Given the description of an element on the screen output the (x, y) to click on. 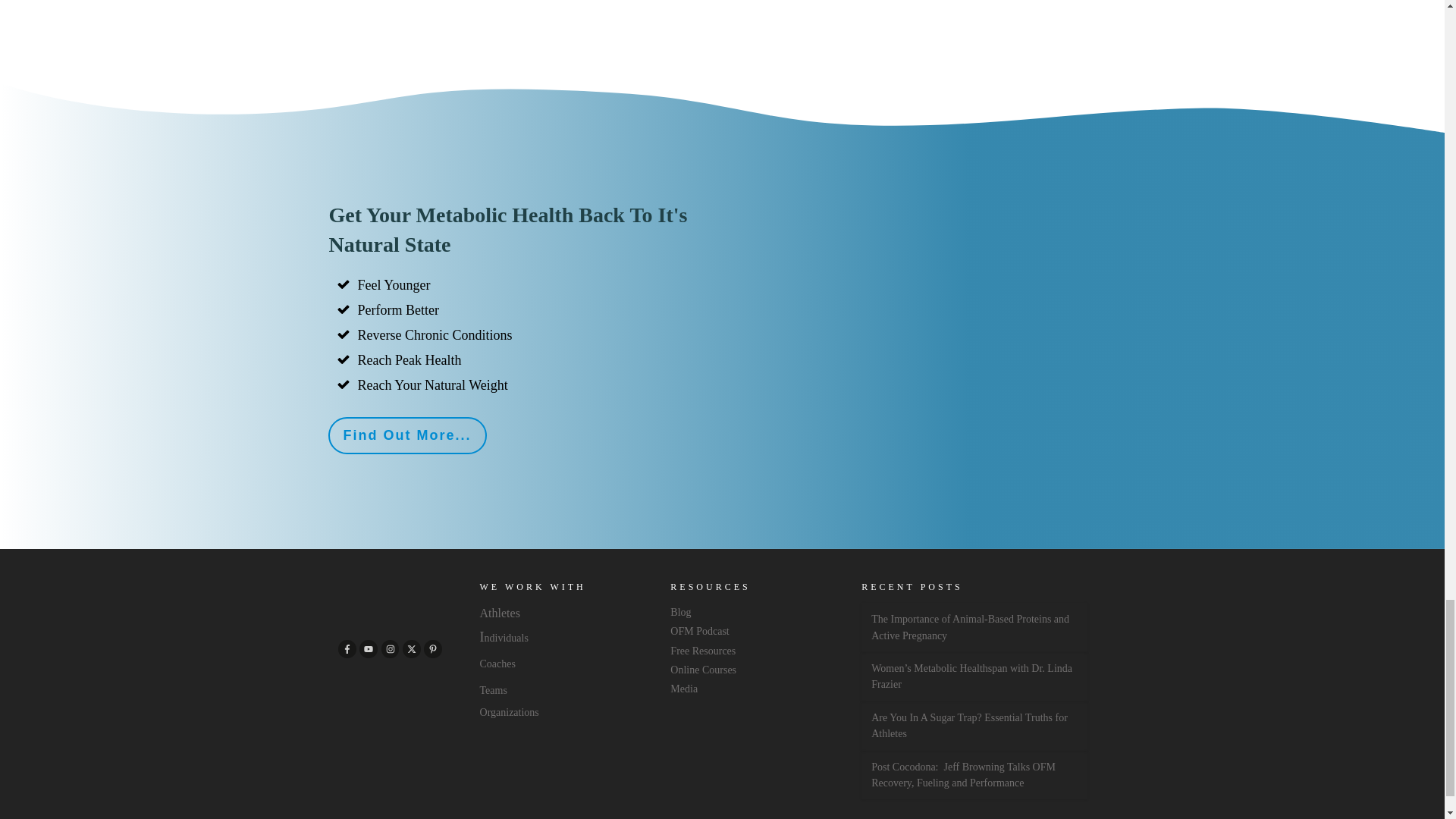
met-reset (922, 278)
ofm-logo-transparent (390, 599)
